Given the description of an element on the screen output the (x, y) to click on. 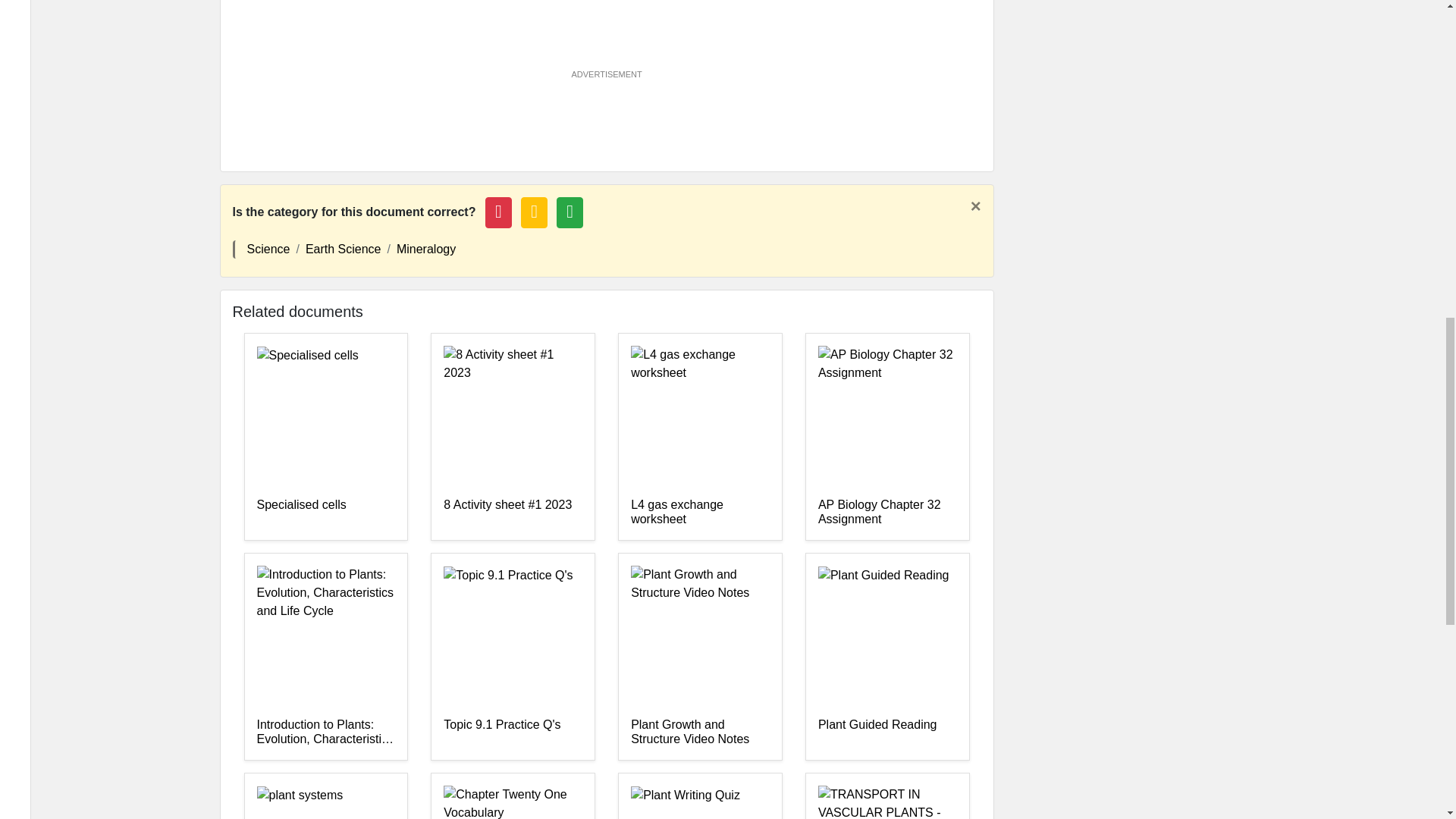
Topic 9.1 Practice Q's (513, 732)
AP Biology Chapter 32 Assignment (887, 512)
Earth Science (343, 248)
Plant Guided Reading (887, 732)
Science (268, 248)
L4 gas exchange worksheet (700, 512)
Specialised cells (325, 512)
Plant Growth and Structure Video Notes (700, 732)
Mineralogy (425, 248)
